Given the description of an element on the screen output the (x, y) to click on. 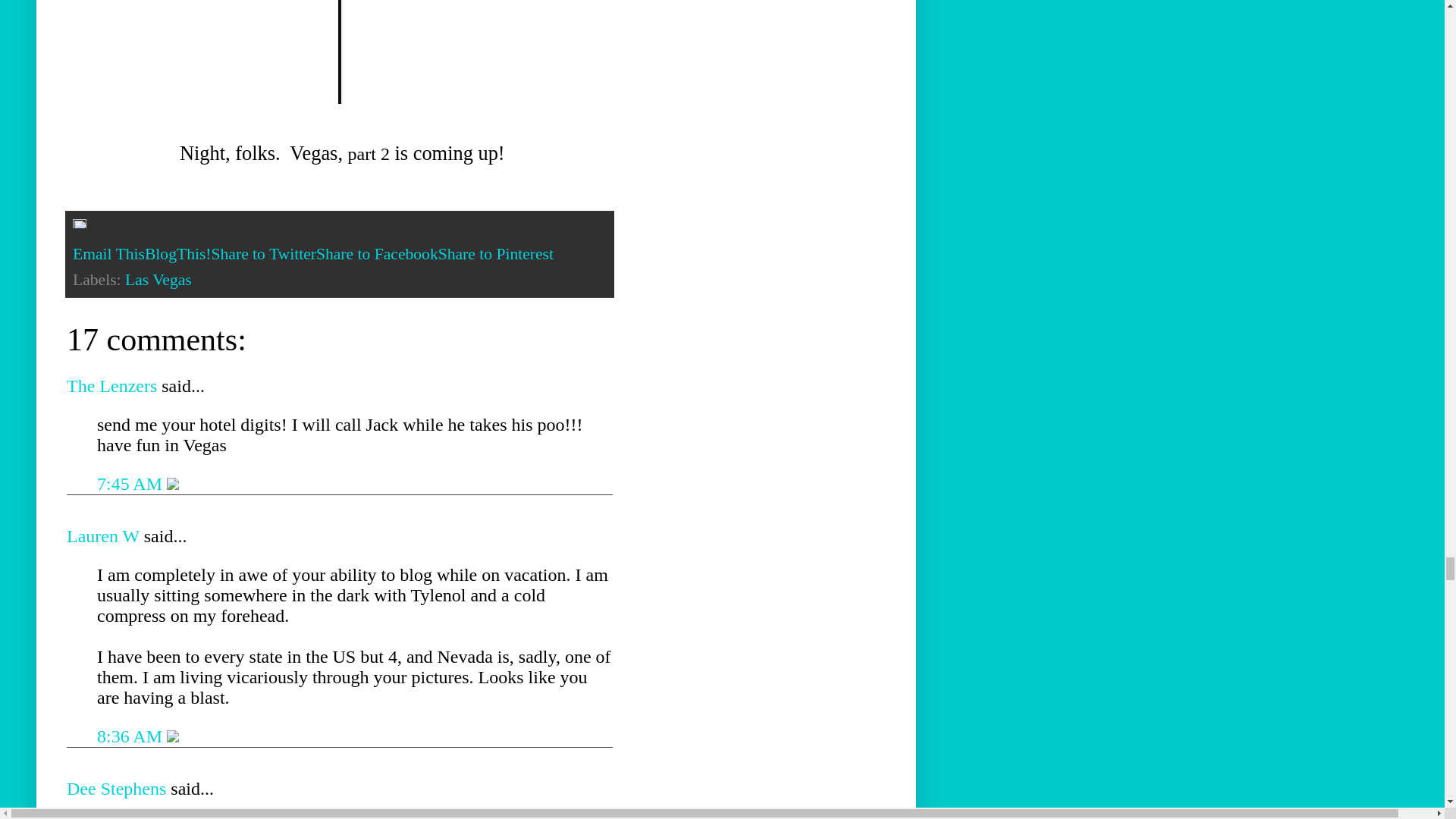
BlogThis! (177, 253)
comment permalink (132, 736)
Email This (108, 253)
comment permalink (132, 483)
Share to Twitter (263, 253)
Share to Facebook (376, 253)
Share to Pinterest (495, 253)
